Given the description of an element on the screen output the (x, y) to click on. 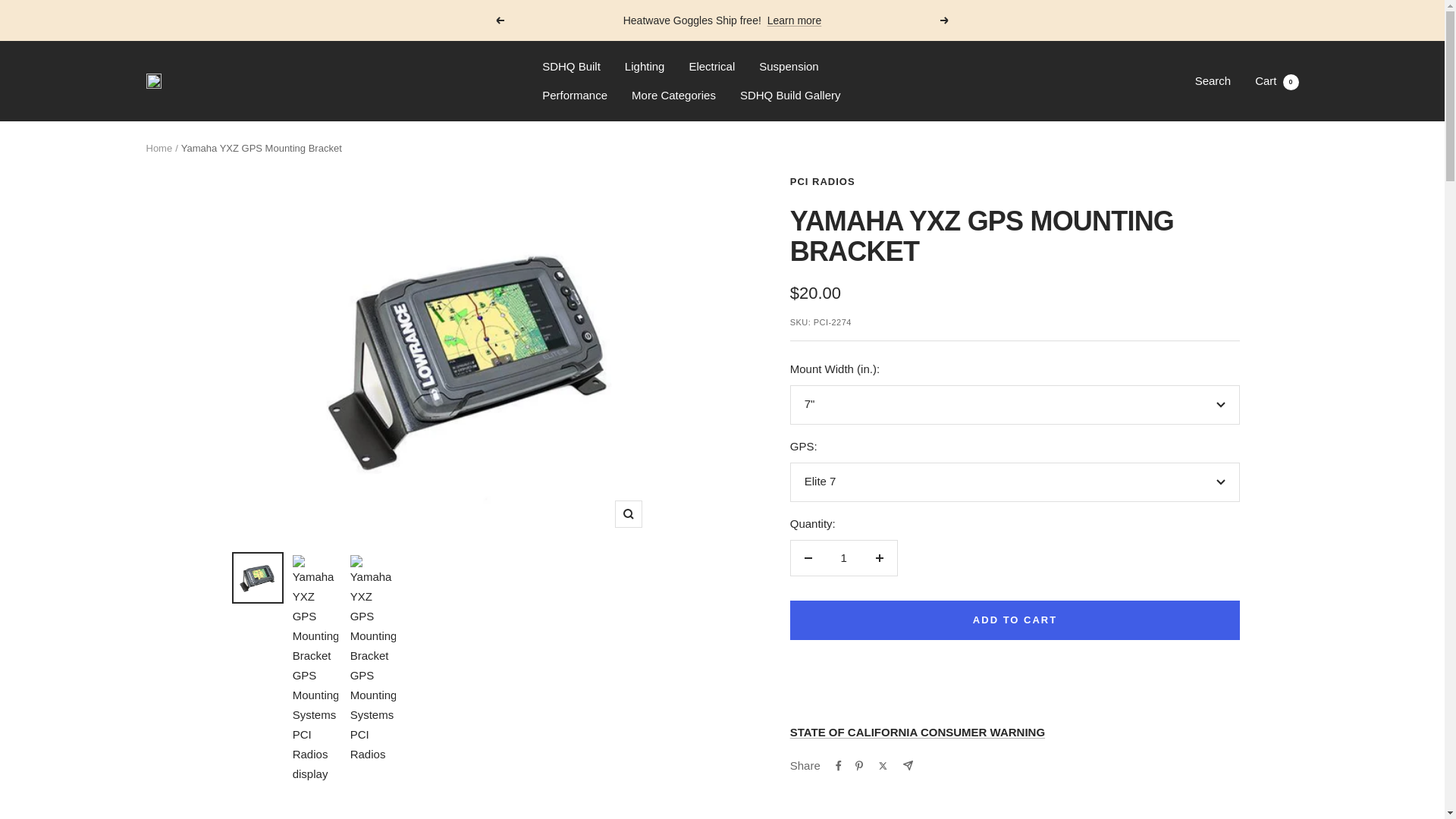
SDHQ (1276, 80)
SDHQ Built (152, 81)
Next (570, 66)
Learn more (944, 20)
Previous (794, 20)
Performance (499, 20)
Prop 65 Warning (574, 95)
Zoom (917, 731)
Home (628, 513)
Search (158, 147)
Lighting (1213, 80)
Electrical (644, 66)
PCI RADIOS (711, 66)
Suspension (823, 181)
